Given the description of an element on the screen output the (x, y) to click on. 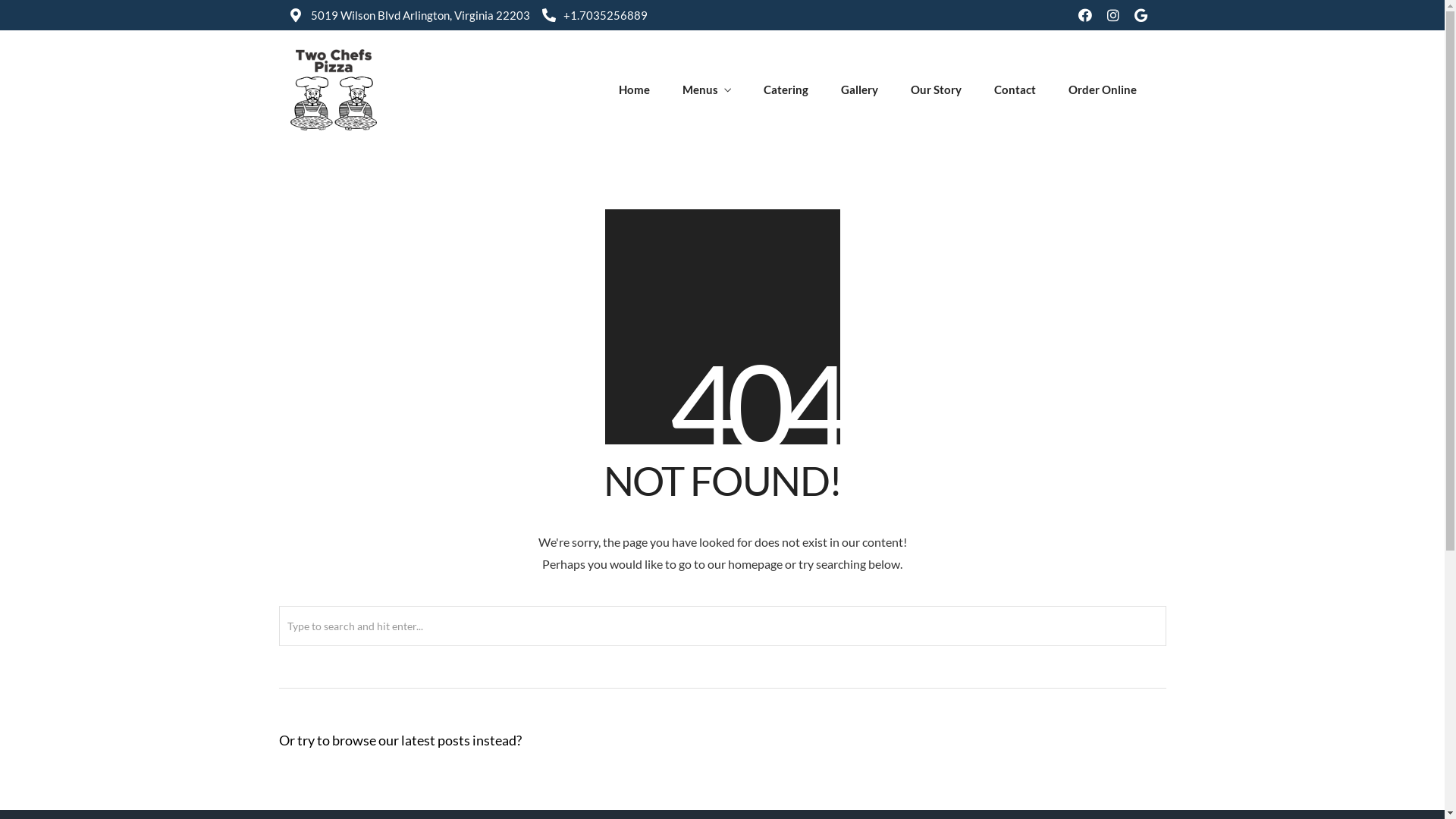
Home Element type: text (633, 89)
Catering Element type: text (785, 89)
Menus Element type: text (706, 90)
Our Story Element type: text (935, 89)
5019 Wilson Blvd Arlington, Virginia 22203 Element type: text (409, 14)
Gallery Element type: text (859, 89)
+1.7035256889 Element type: text (594, 14)
Order Online Element type: text (1102, 89)
Two Chefs Logo (B&W with Name) Element type: hover (332, 89)
Contact Element type: text (1014, 89)
